Given the description of an element on the screen output the (x, y) to click on. 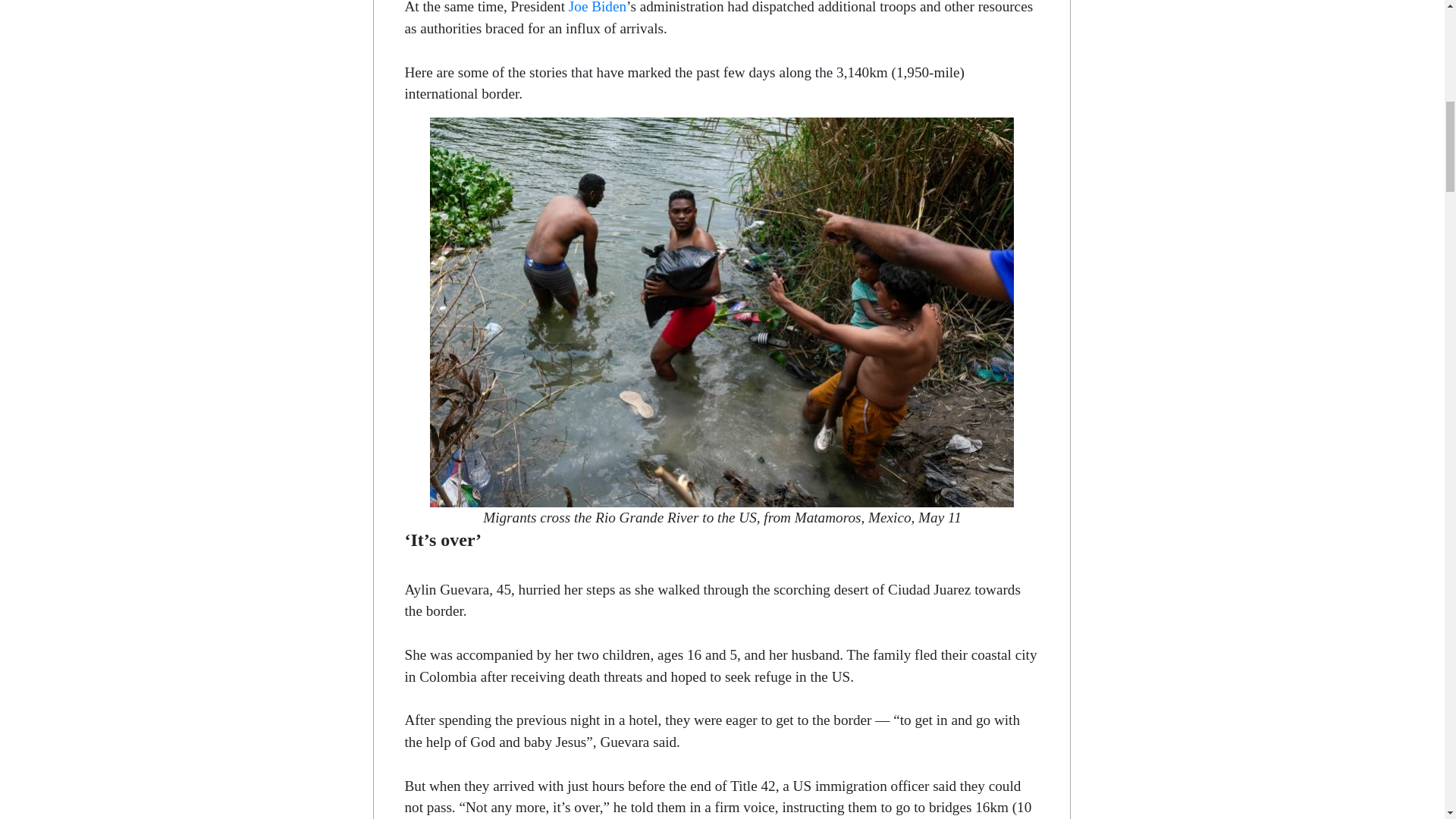
Joe Biden (597, 7)
